Given the description of an element on the screen output the (x, y) to click on. 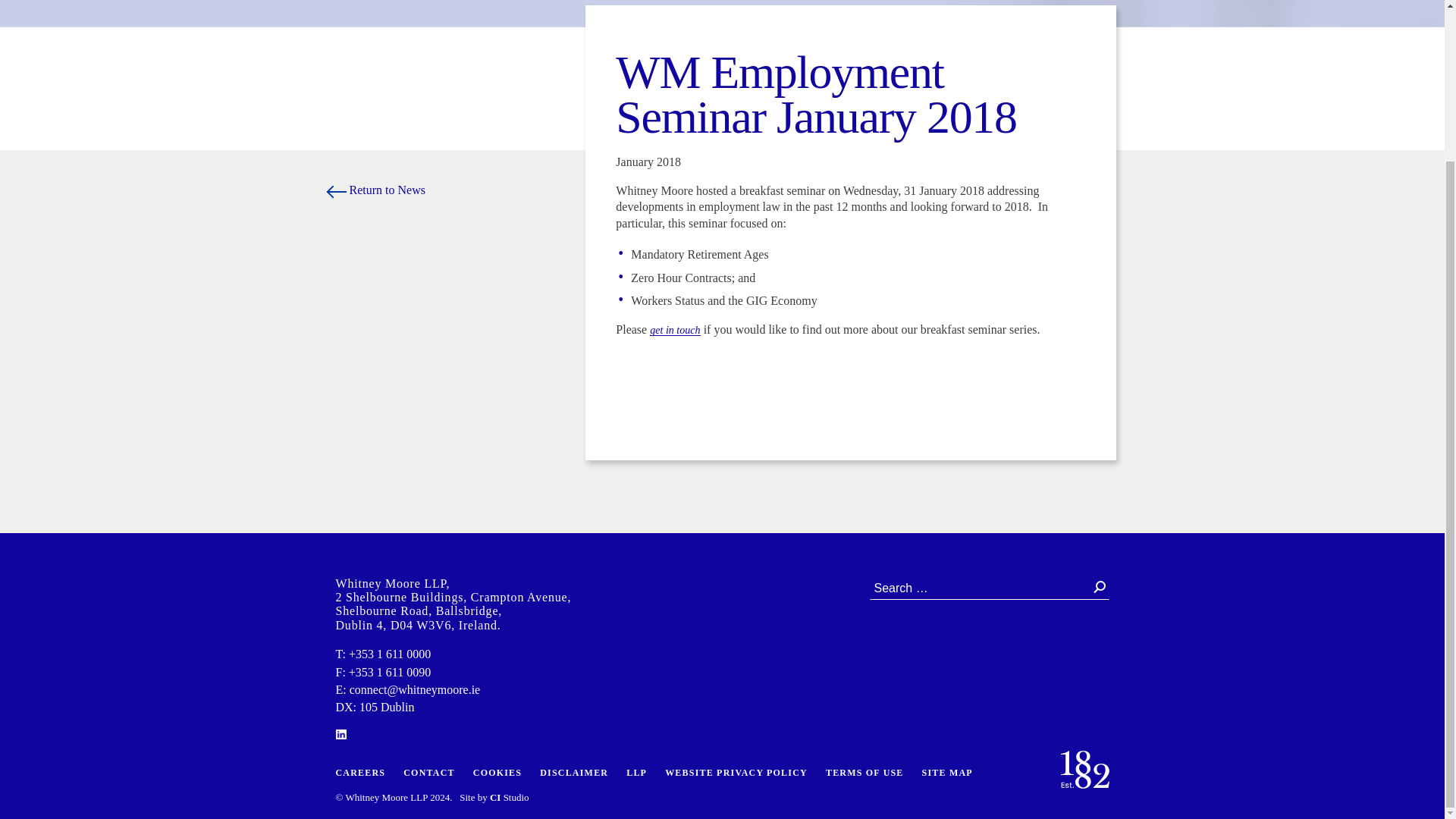
LLP (636, 772)
CAREERS (359, 772)
SITE MAP (946, 772)
DX: 105 Dublin (373, 714)
COOKIES (497, 772)
get in touch (674, 329)
DISCLAIMER (574, 772)
Search for: (988, 588)
linkedin (341, 735)
twitter (364, 735)
